Given the description of an element on the screen output the (x, y) to click on. 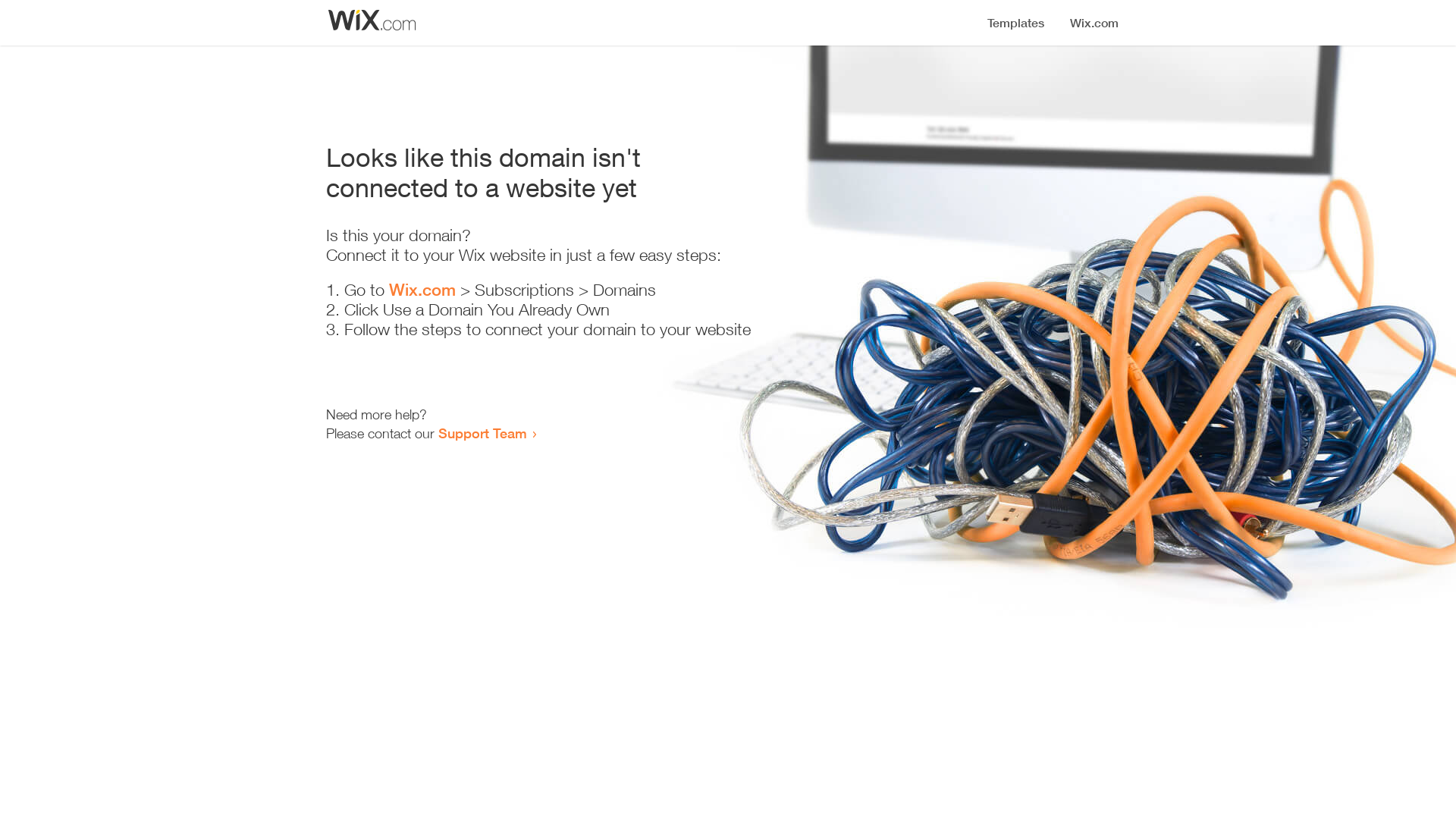
Support Team Element type: text (482, 432)
Wix.com Element type: text (422, 289)
